Given the description of an element on the screen output the (x, y) to click on. 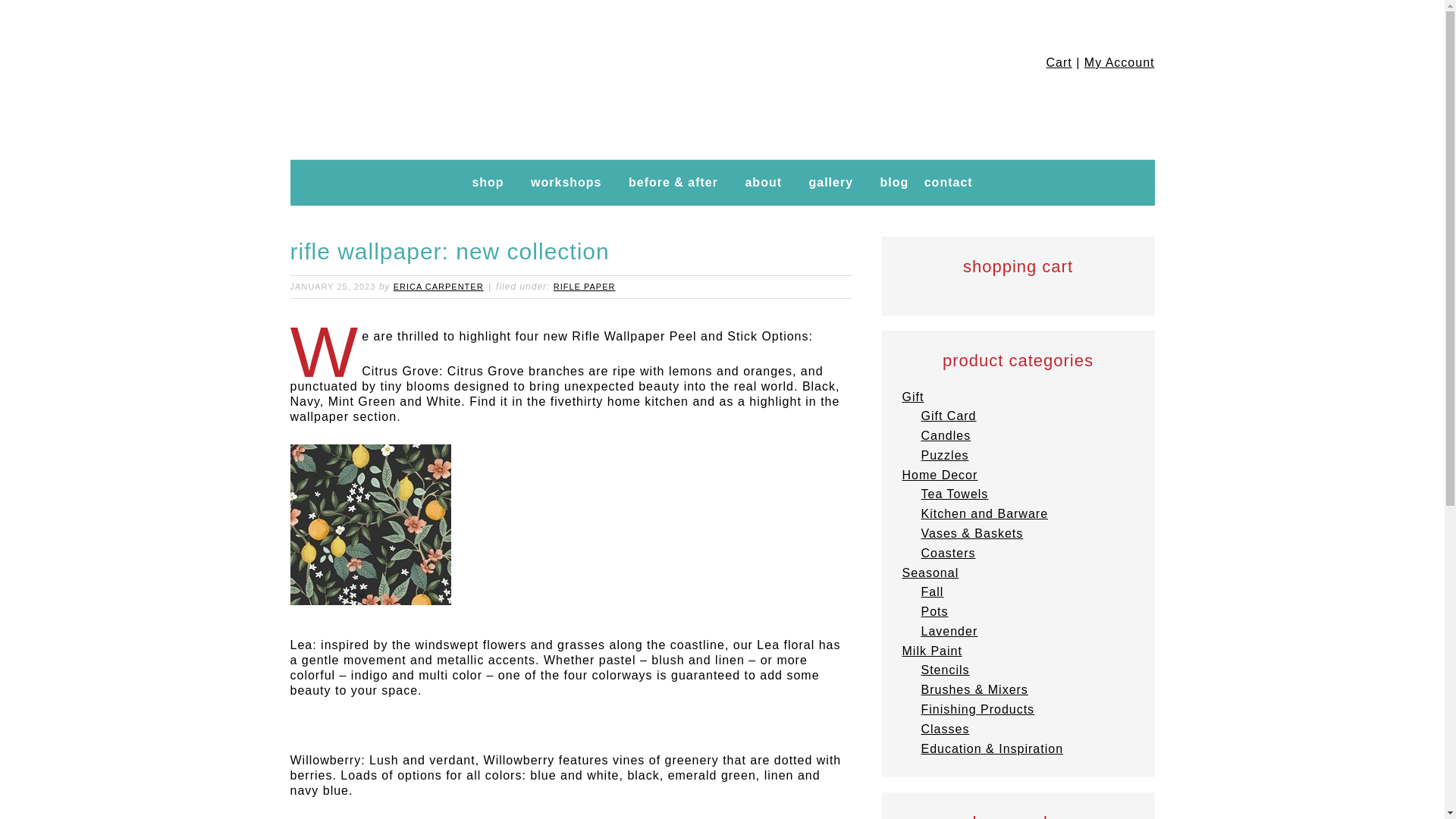
Home Decor (940, 474)
gallery (830, 182)
Cart (1058, 62)
Classes (944, 728)
Candles (945, 435)
contact (948, 182)
RIFLE PAPER (584, 286)
Tea Towels (954, 493)
Kitchen and Barware (984, 513)
Fall (931, 591)
